Given the description of an element on the screen output the (x, y) to click on. 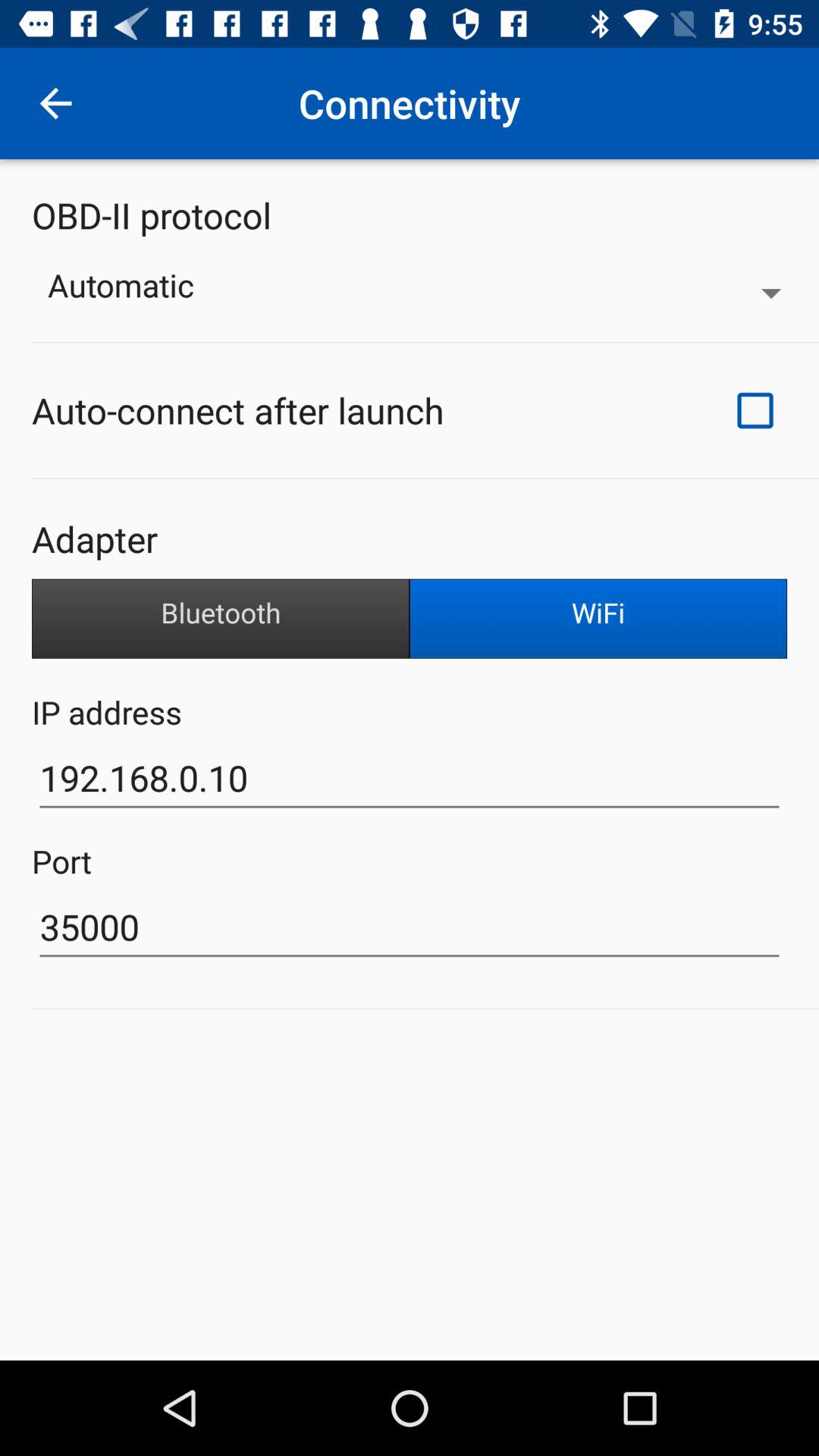
scroll until the 192 168 0 icon (409, 778)
